Given the description of an element on the screen output the (x, y) to click on. 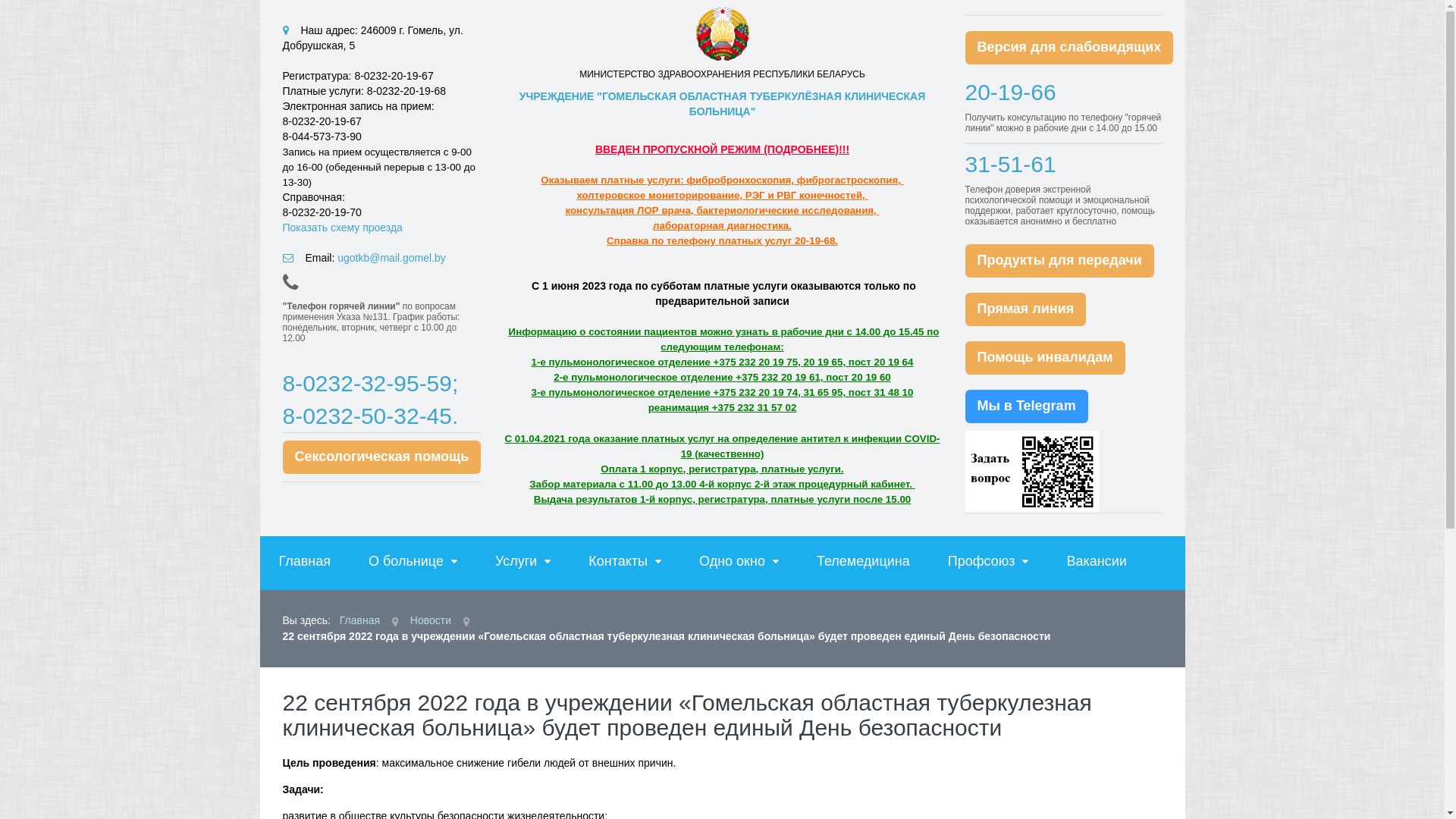
ugotkb@mail.gomel.by Element type: text (391, 257)
8-0232-32-95-59; 8-0232-50-32-45. Element type: text (370, 399)
